Given the description of an element on the screen output the (x, y) to click on. 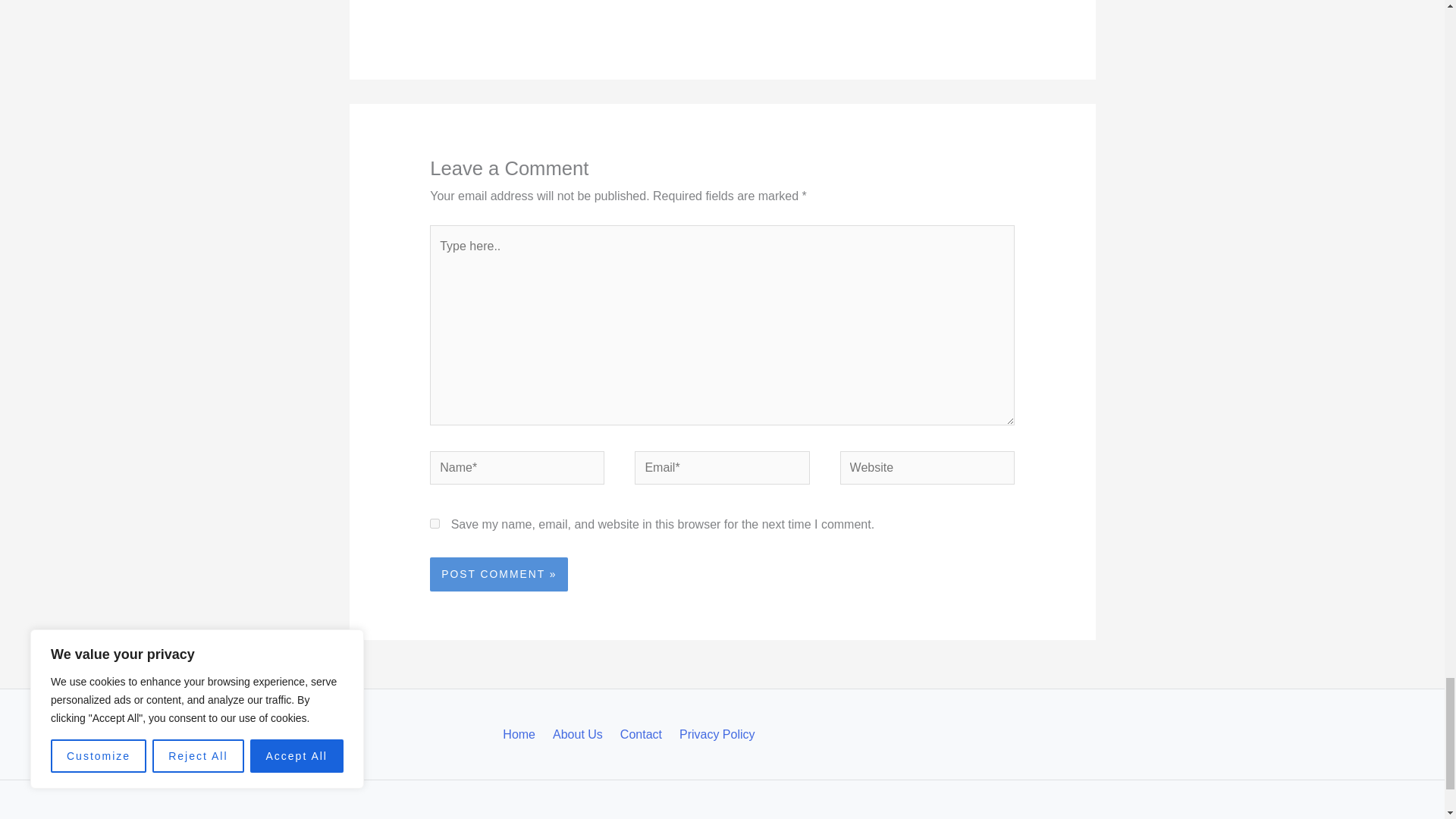
yes (434, 523)
